Given the description of an element on the screen output the (x, y) to click on. 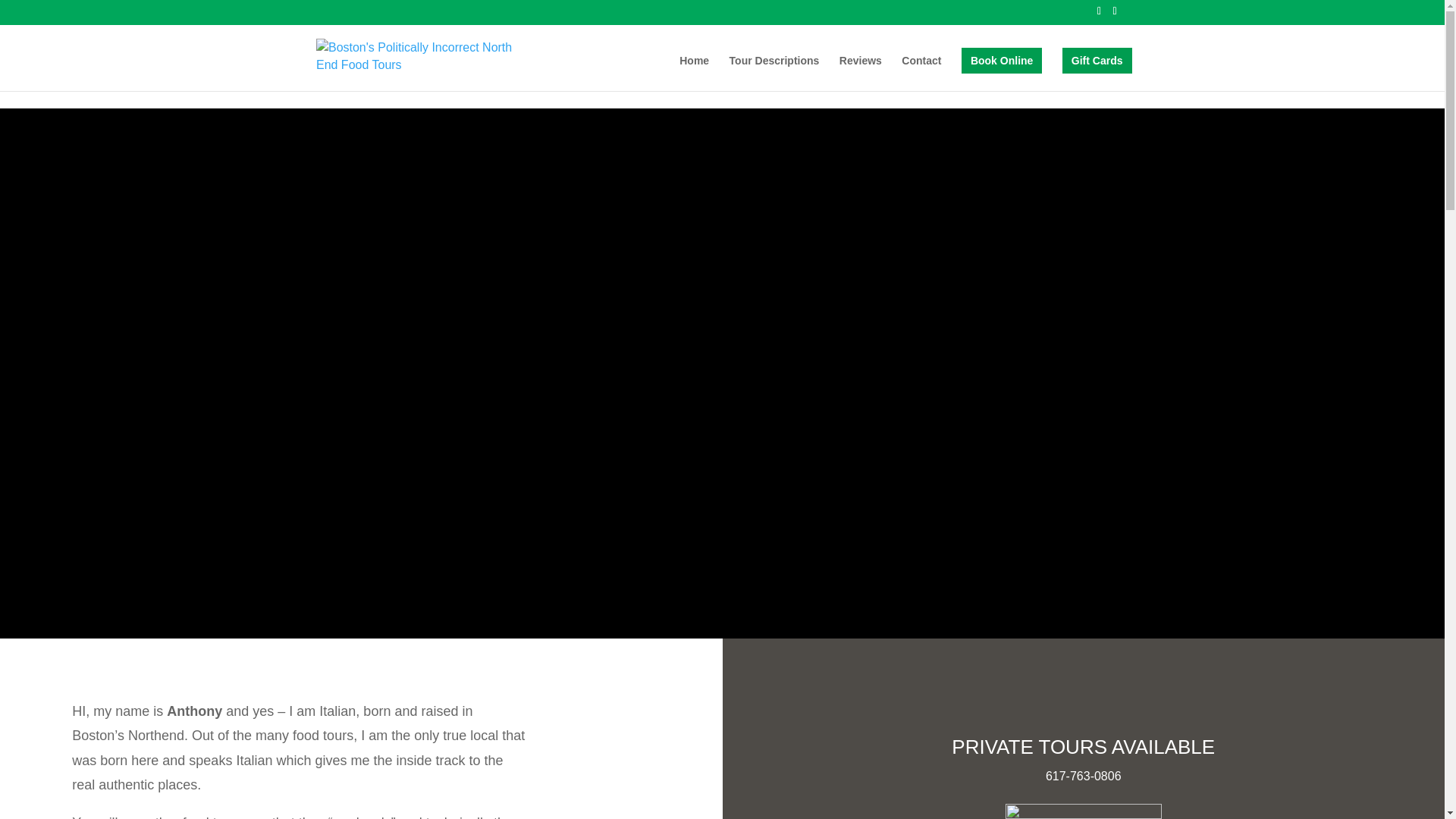
Contact (920, 72)
Reviews (861, 72)
Tour Descriptions (774, 72)
Book Online (1001, 60)
Gift Cards (1097, 60)
